Given the description of an element on the screen output the (x, y) to click on. 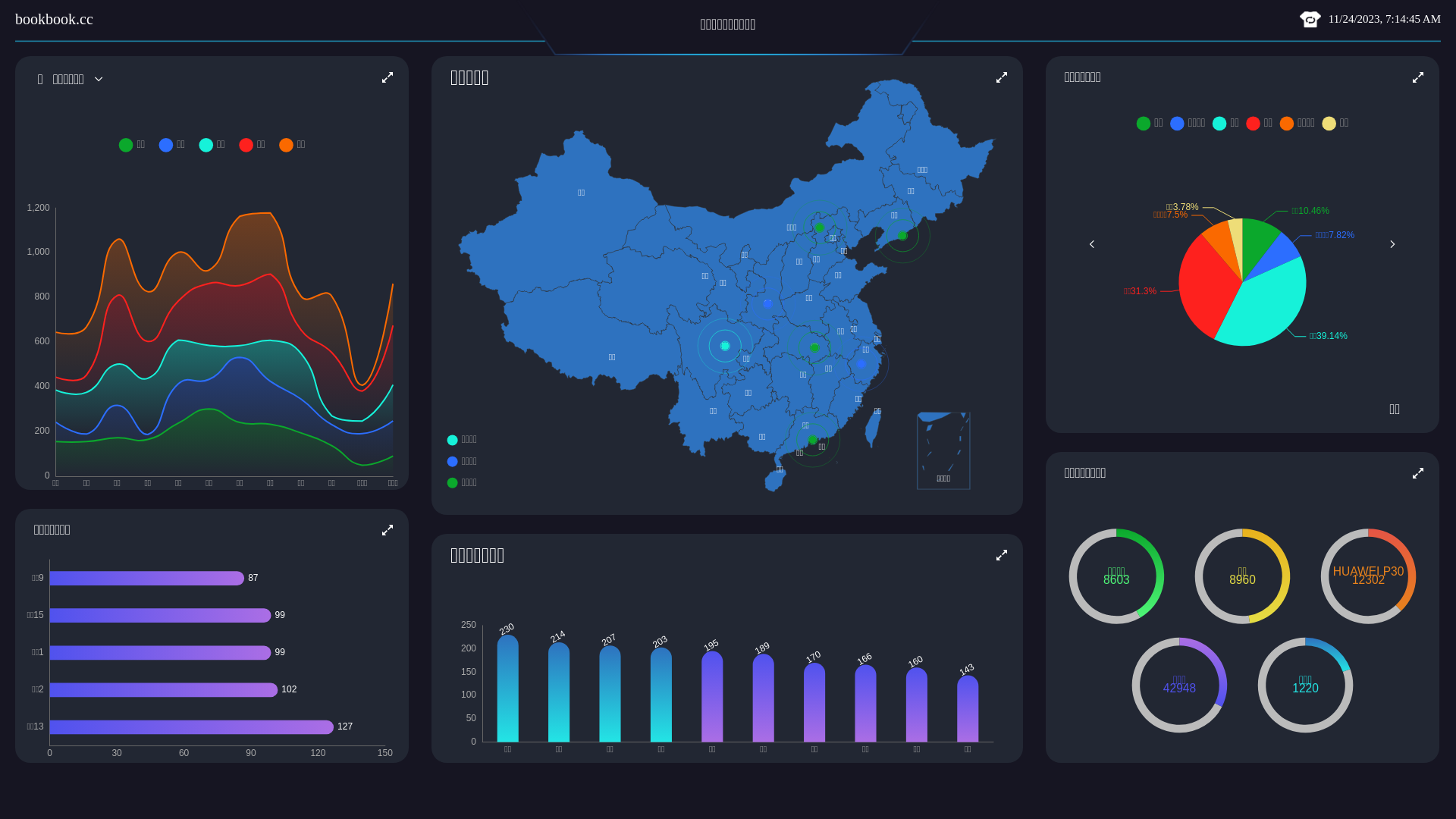
bookbook.cc Element type: text (54, 18)
